Given the description of an element on the screen output the (x, y) to click on. 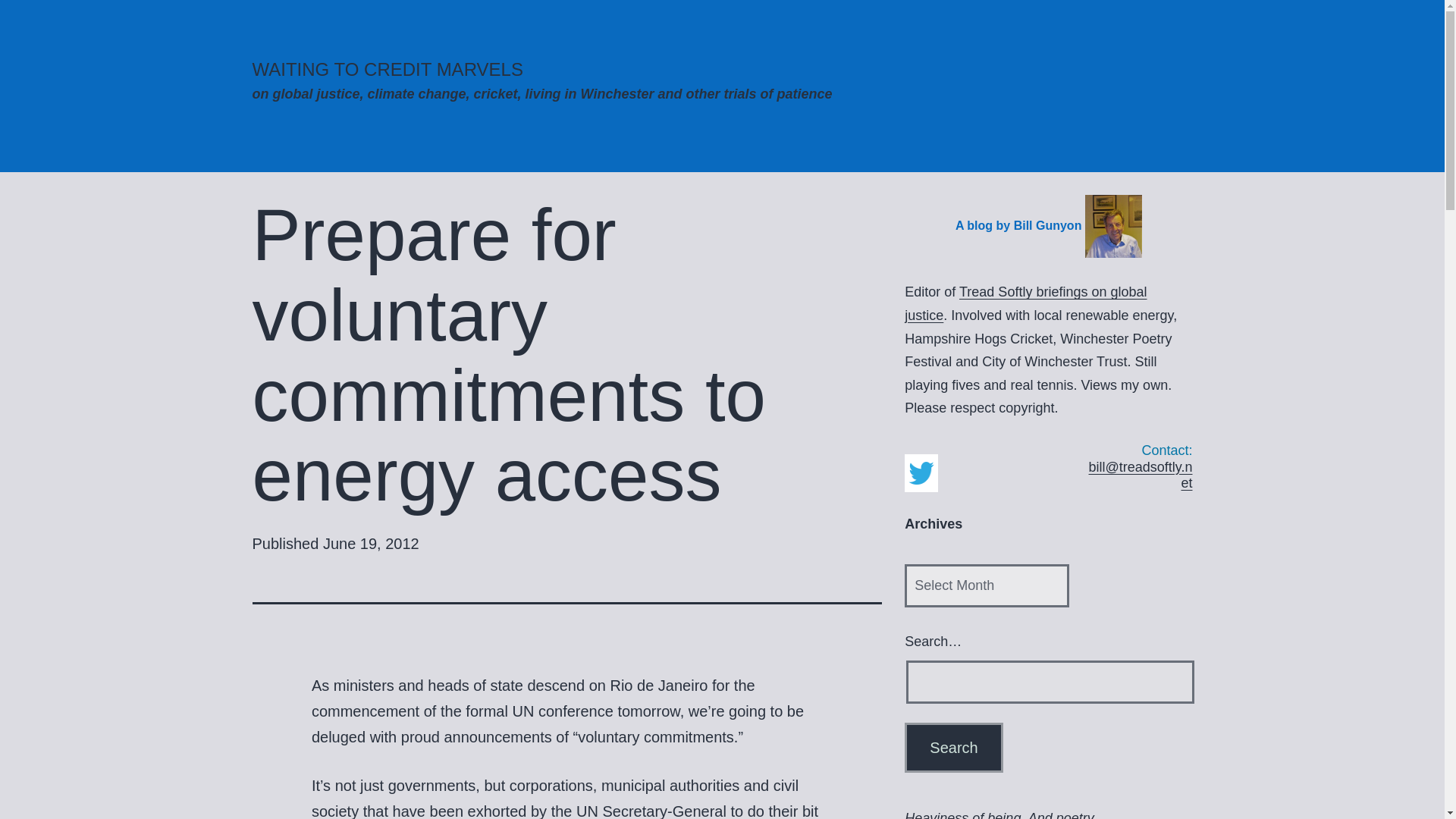
Tread Softly briefings on global justice (1025, 303)
WAITING TO CREDIT MARVELS (386, 68)
Search (953, 747)
Search (953, 747)
Search (953, 747)
